Given the description of an element on the screen output the (x, y) to click on. 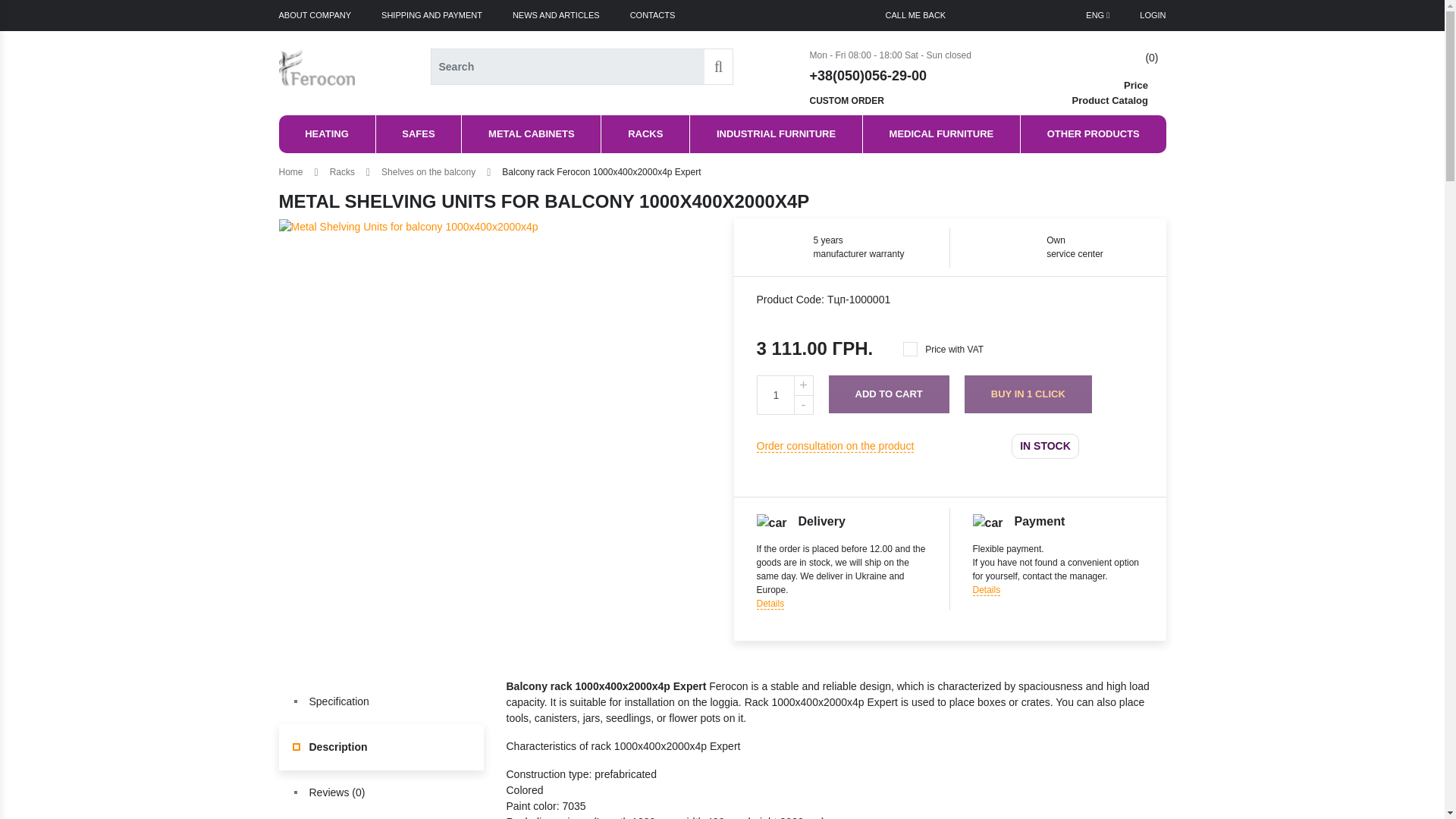
LOGIN (1153, 14)
CUSTOM ORDER (890, 100)
Price (1118, 85)
ABOUT COMPANY (315, 14)
1 (775, 394)
Metal Shelving Units for balcony 1000x400x2000x4p  (408, 227)
NEWS AND ARTICLES (555, 14)
Product Catalog (1118, 99)
SHIPPING AND PAYMENT (431, 14)
CALL ME BACK (915, 14)
